Given the description of an element on the screen output the (x, y) to click on. 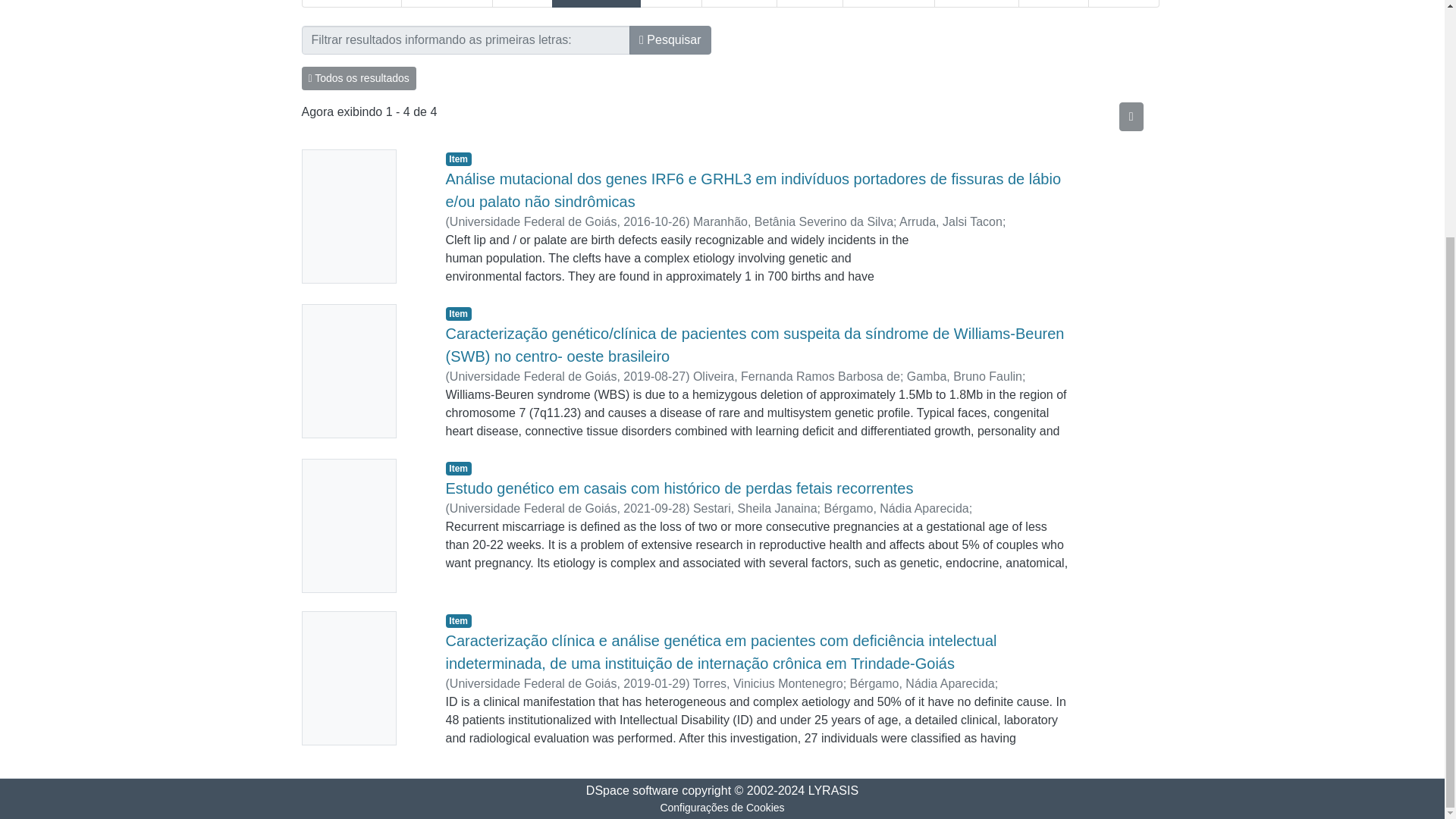
Por Tipo de Defesa (1054, 3)
Pesquisar (669, 39)
Por Orientador (596, 3)
Por Assunto (739, 3)
Por Autor (523, 3)
Todos os resultados (358, 78)
Por tipo de Acesso (1123, 3)
Por Programa (976, 3)
